Given the description of an element on the screen output the (x, y) to click on. 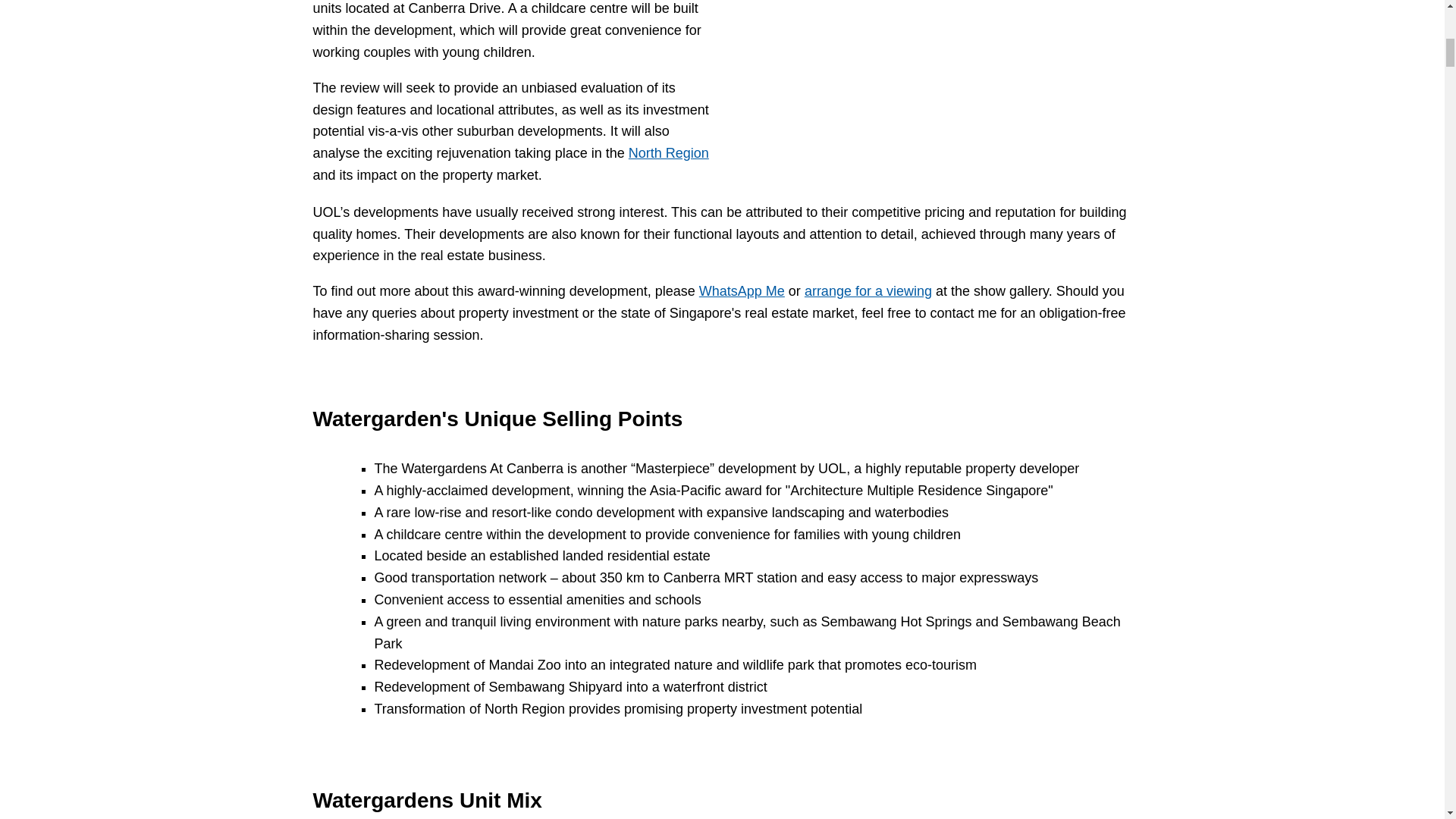
Contact Us (868, 290)
WhatsApp Me (741, 290)
